Given the description of an element on the screen output the (x, y) to click on. 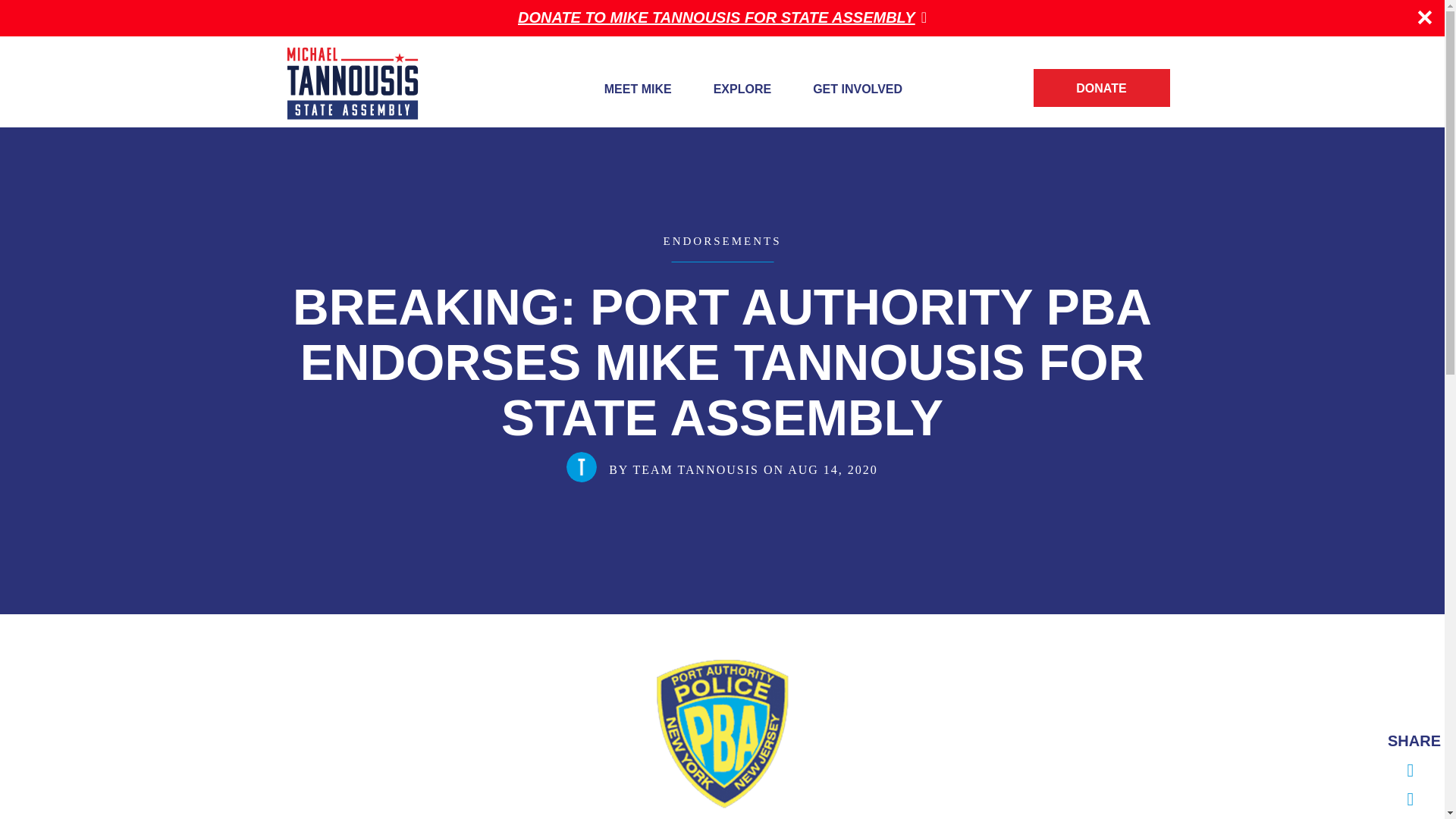
DONATE (1100, 87)
GET INVOLVED (857, 89)
EXPLORE (742, 89)
DONATE TO MIKE TANNOUSIS FOR STATE ASSEMBLY (722, 17)
MEET MIKE (637, 89)
